Given the description of an element on the screen output the (x, y) to click on. 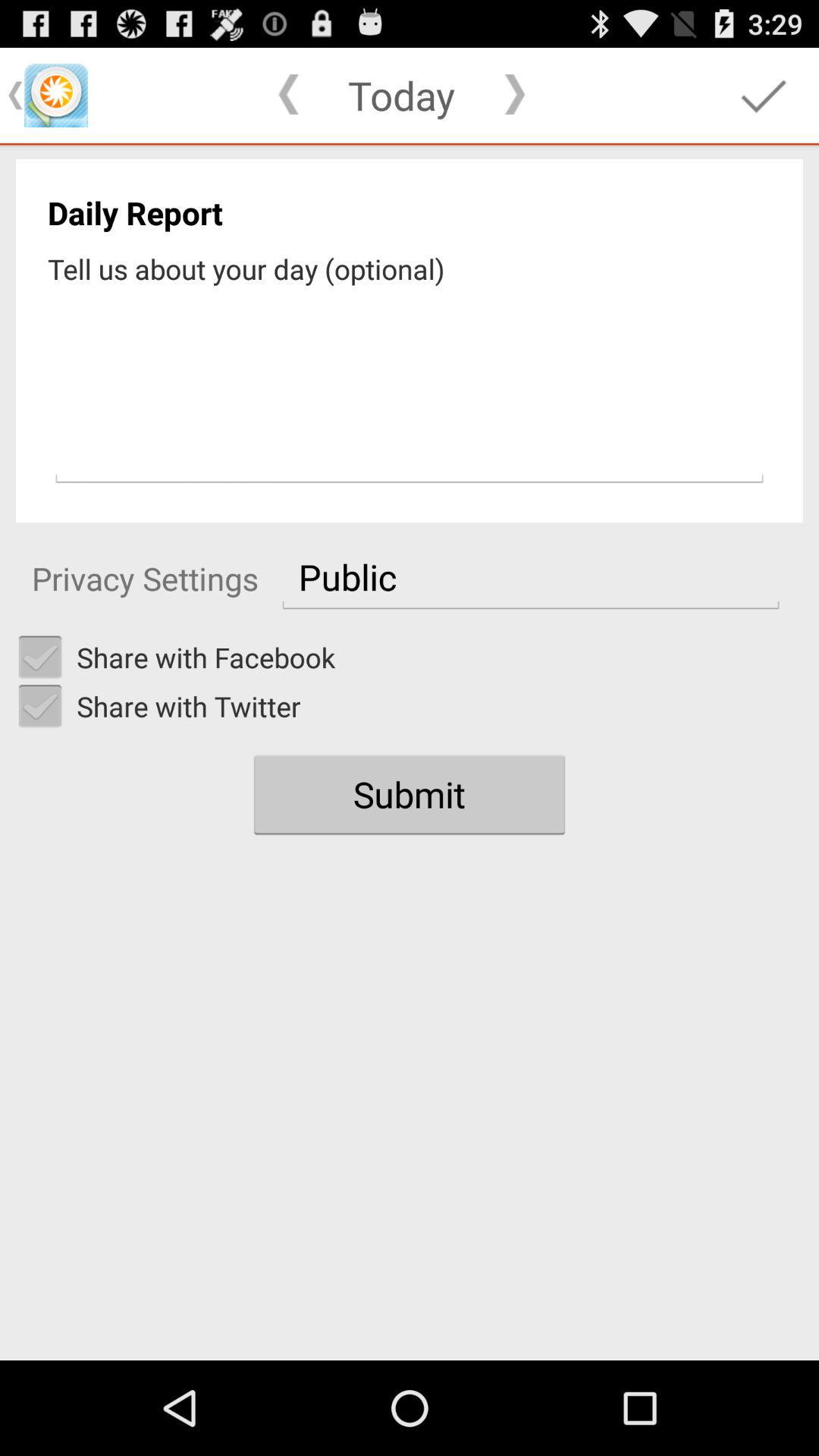
check to share with facebook (39, 657)
